Given the description of an element on the screen output the (x, y) to click on. 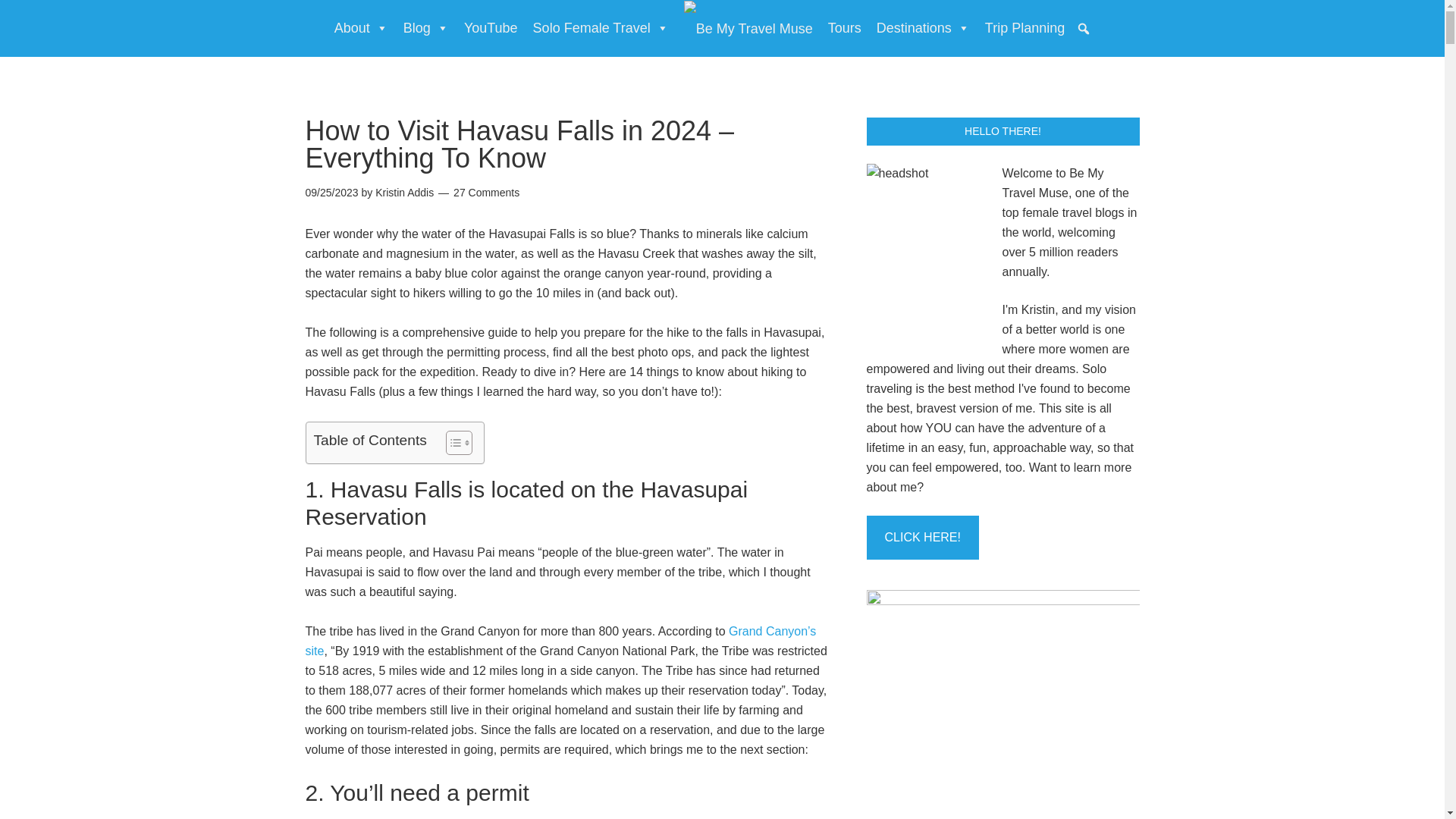
About (361, 28)
YouTube (491, 28)
Solo Female Travel (601, 28)
Destinations (922, 28)
Blog (426, 28)
